Given the description of an element on the screen output the (x, y) to click on. 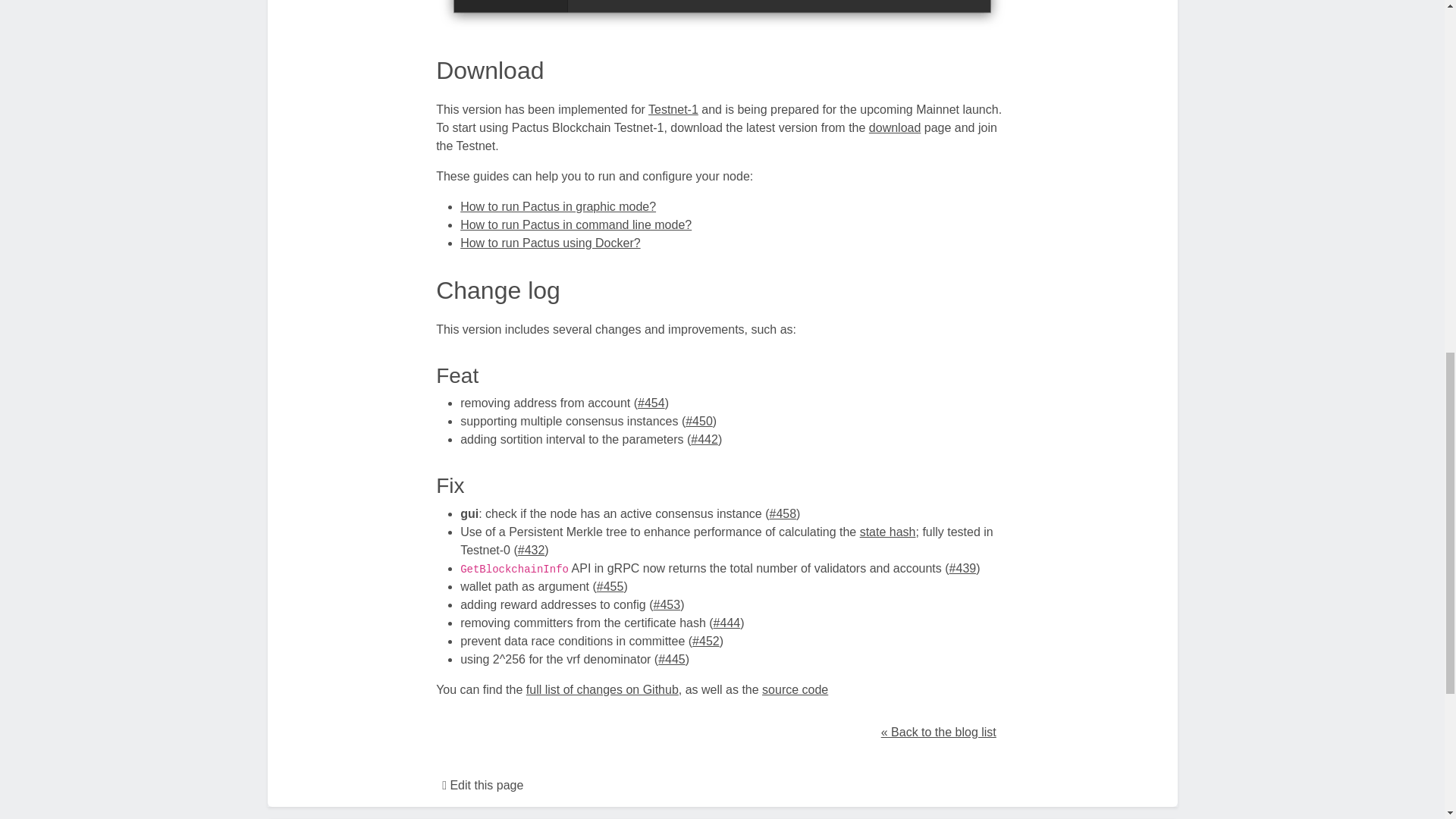
How to run Pactus using Docker? (550, 242)
How to run Pactus in command line mode? (575, 224)
How to run Pactus in graphic mode? (558, 205)
Testnet-1 (672, 109)
